Given the description of an element on the screen output the (x, y) to click on. 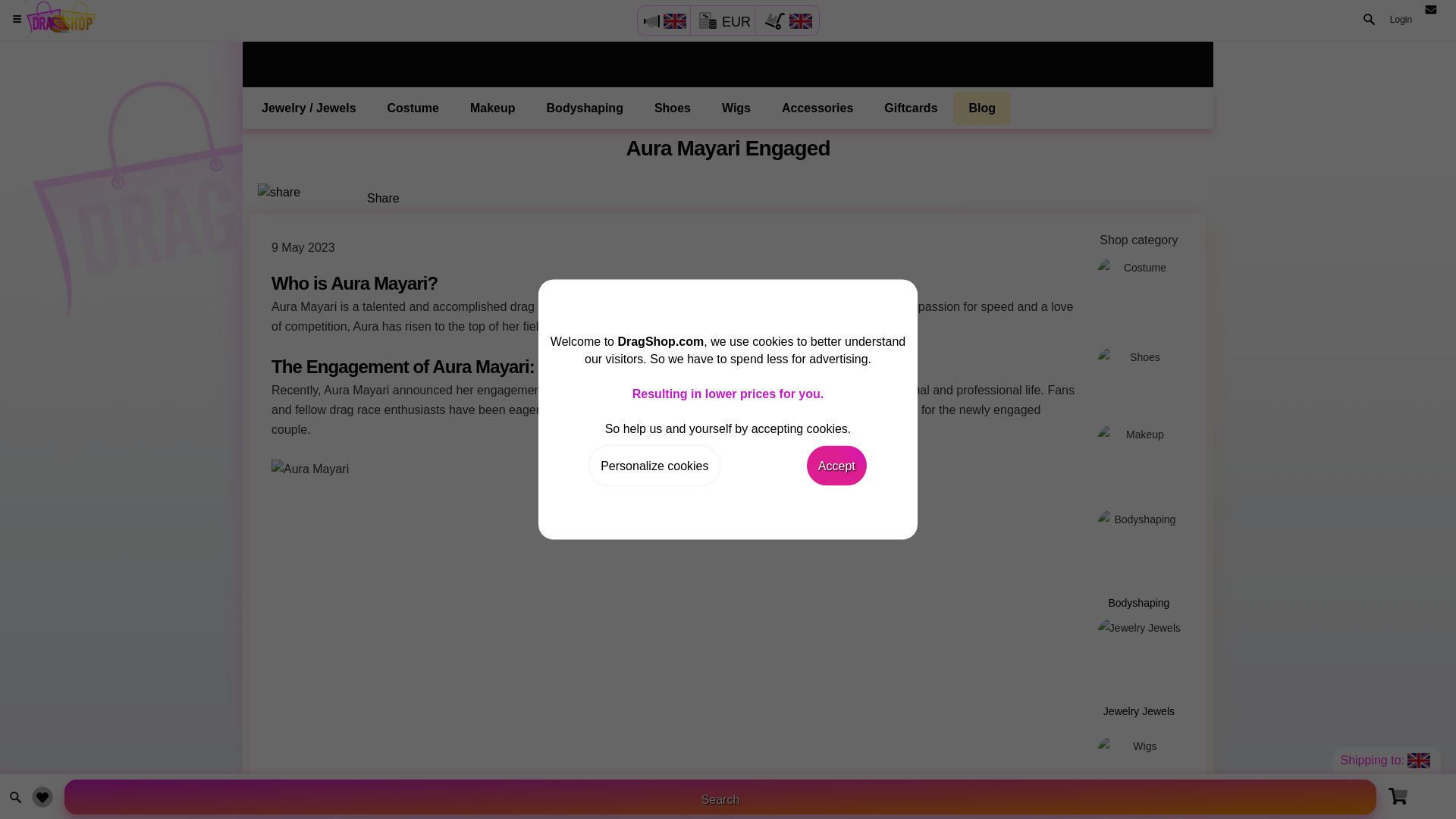
Wigs (735, 108)
Drag Queen Shoes (672, 108)
Costume (413, 108)
Drag Queen Blog (982, 108)
Drag Queen Wigs (735, 108)
Giftcards (910, 108)
Drag Queen Makeup (492, 108)
Drag Queen Accessories (1138, 812)
Bodyshaping (585, 108)
Drag Queen Costume (413, 108)
Drag Queen Accessories (817, 108)
Drag Queen Bodyshaping (585, 108)
Drag Queen Makeup (1138, 459)
Shoes (1138, 378)
Blog (982, 108)
